Given the description of an element on the screen output the (x, y) to click on. 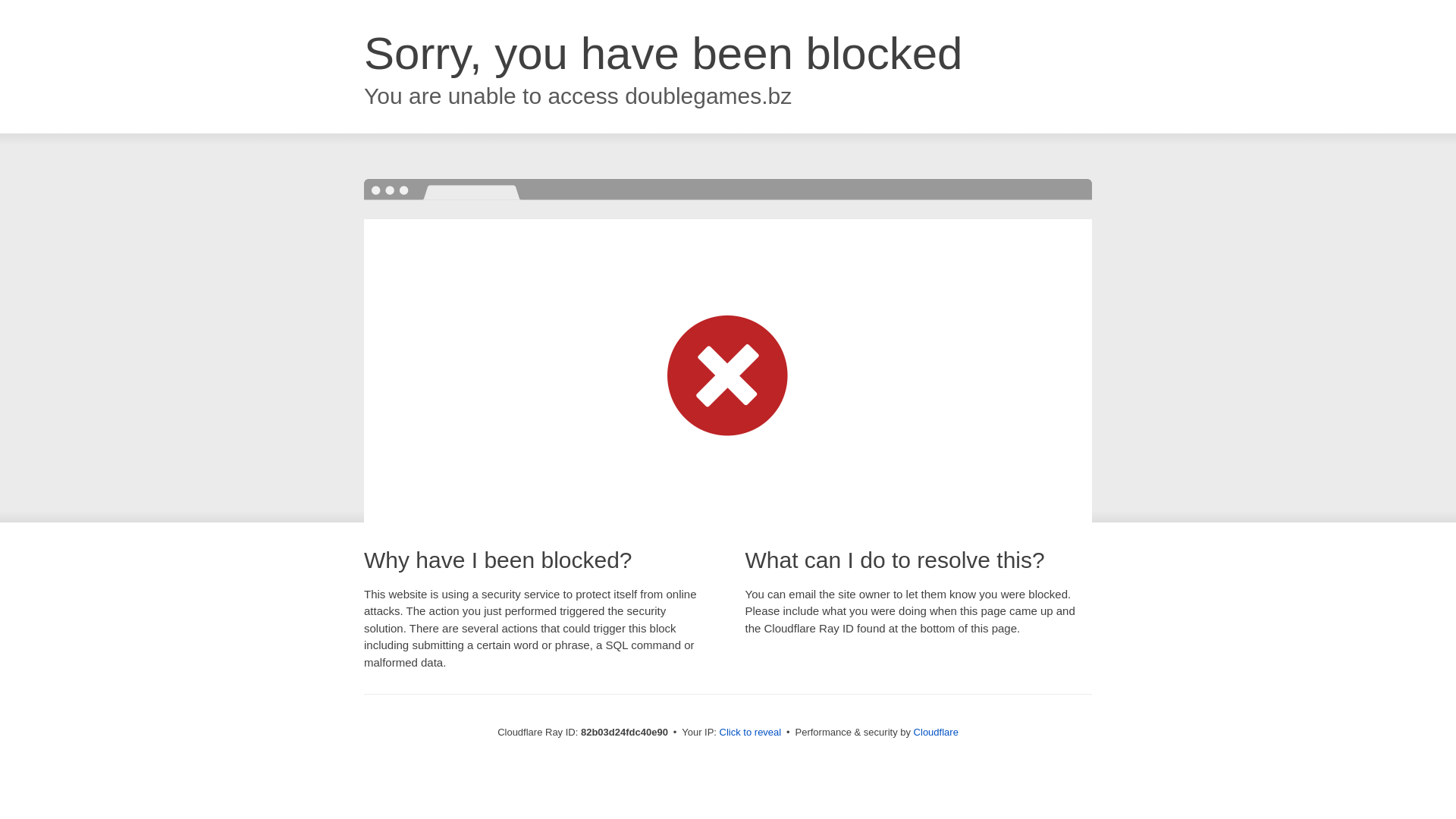
Click to reveal Element type: text (750, 732)
Cloudflare Element type: text (935, 731)
